Given the description of an element on the screen output the (x, y) to click on. 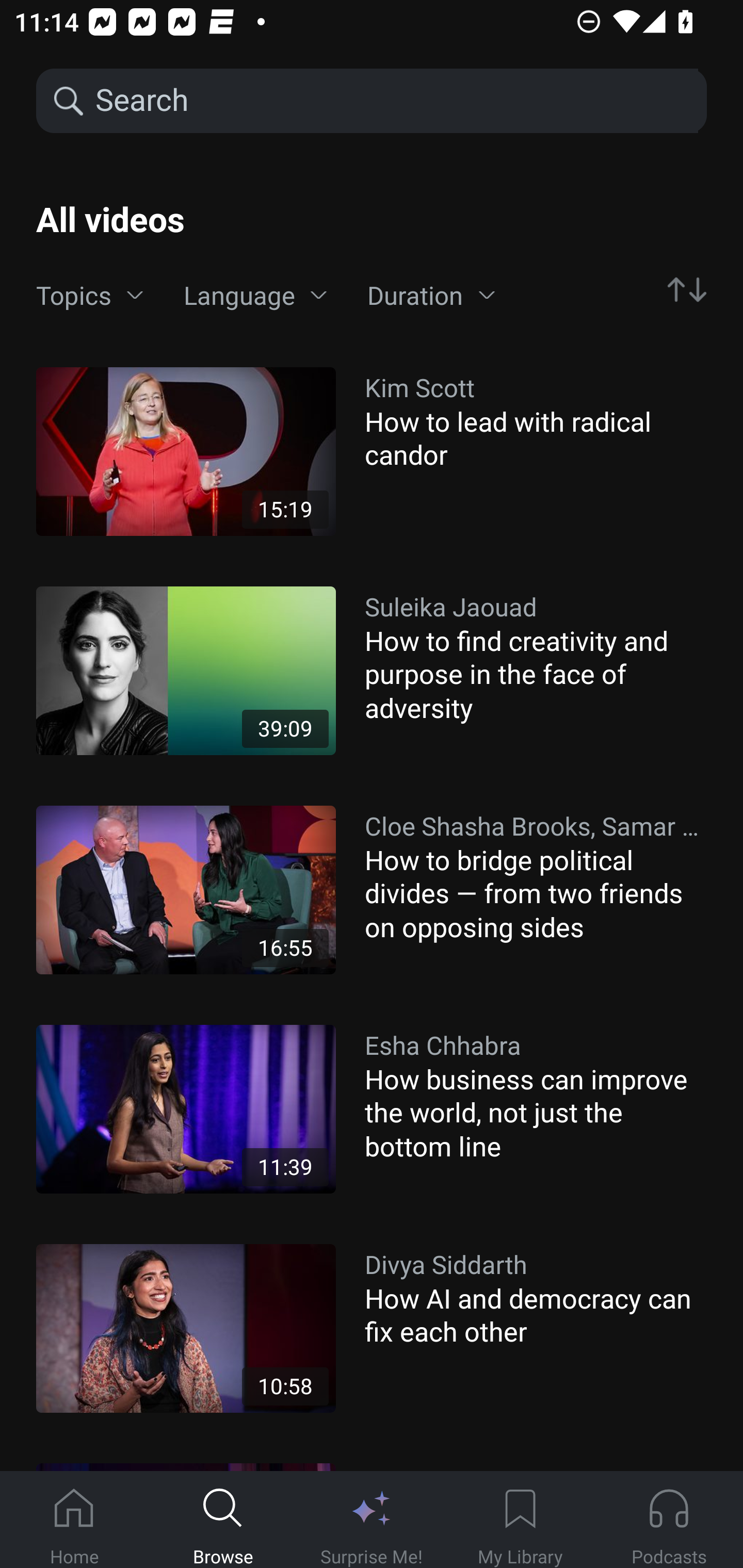
Search (395, 100)
Topics (90, 295)
Language (255, 295)
Duration (431, 295)
15:19 Kim Scott How to lead with radical candor (371, 451)
Home (74, 1520)
Browse (222, 1520)
Surprise Me! (371, 1520)
My Library (519, 1520)
Podcasts (668, 1520)
